Given the description of an element on the screen output the (x, y) to click on. 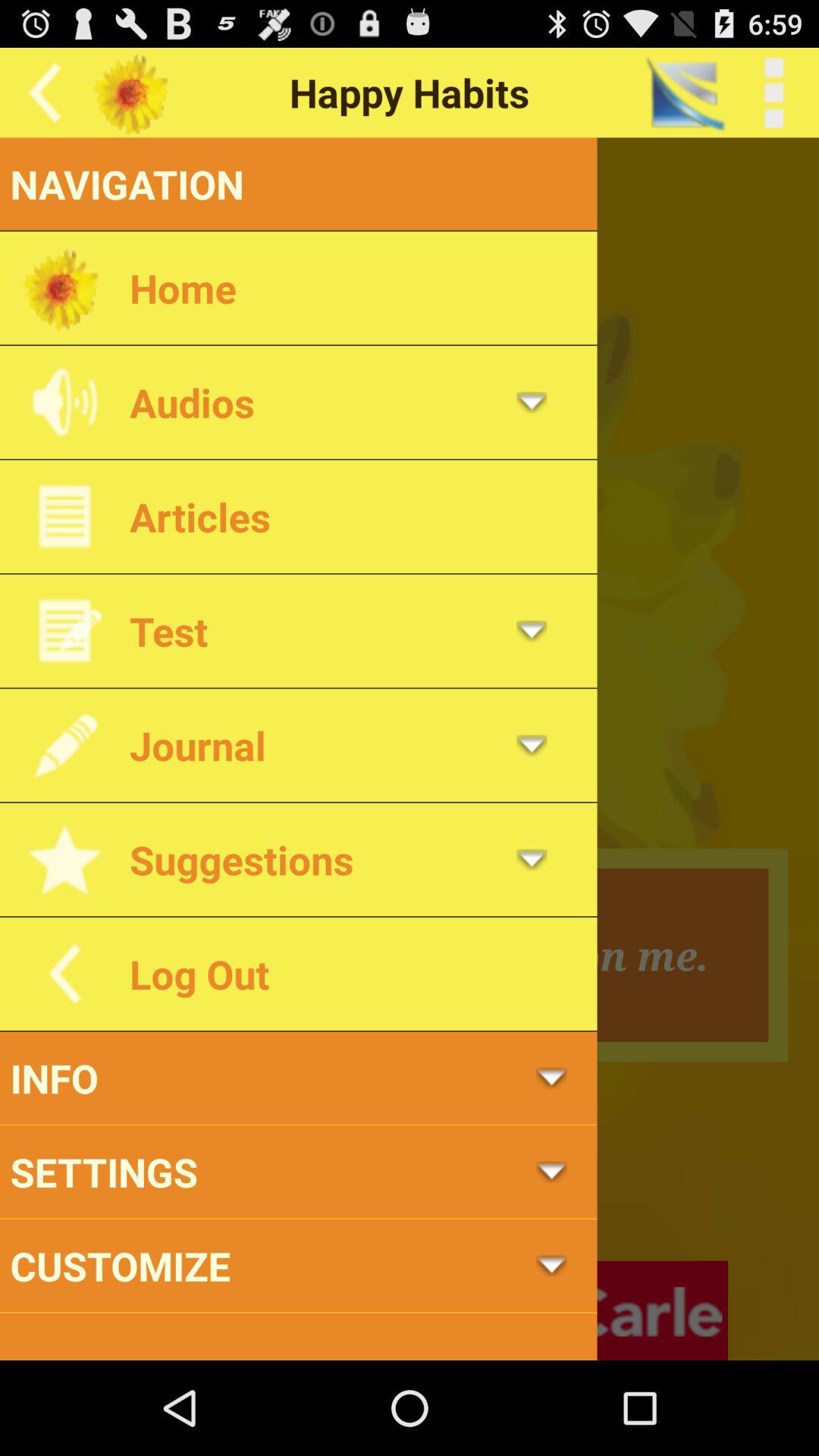
select the second icon which is at the top left corner (134, 93)
